Given the description of an element on the screen output the (x, y) to click on. 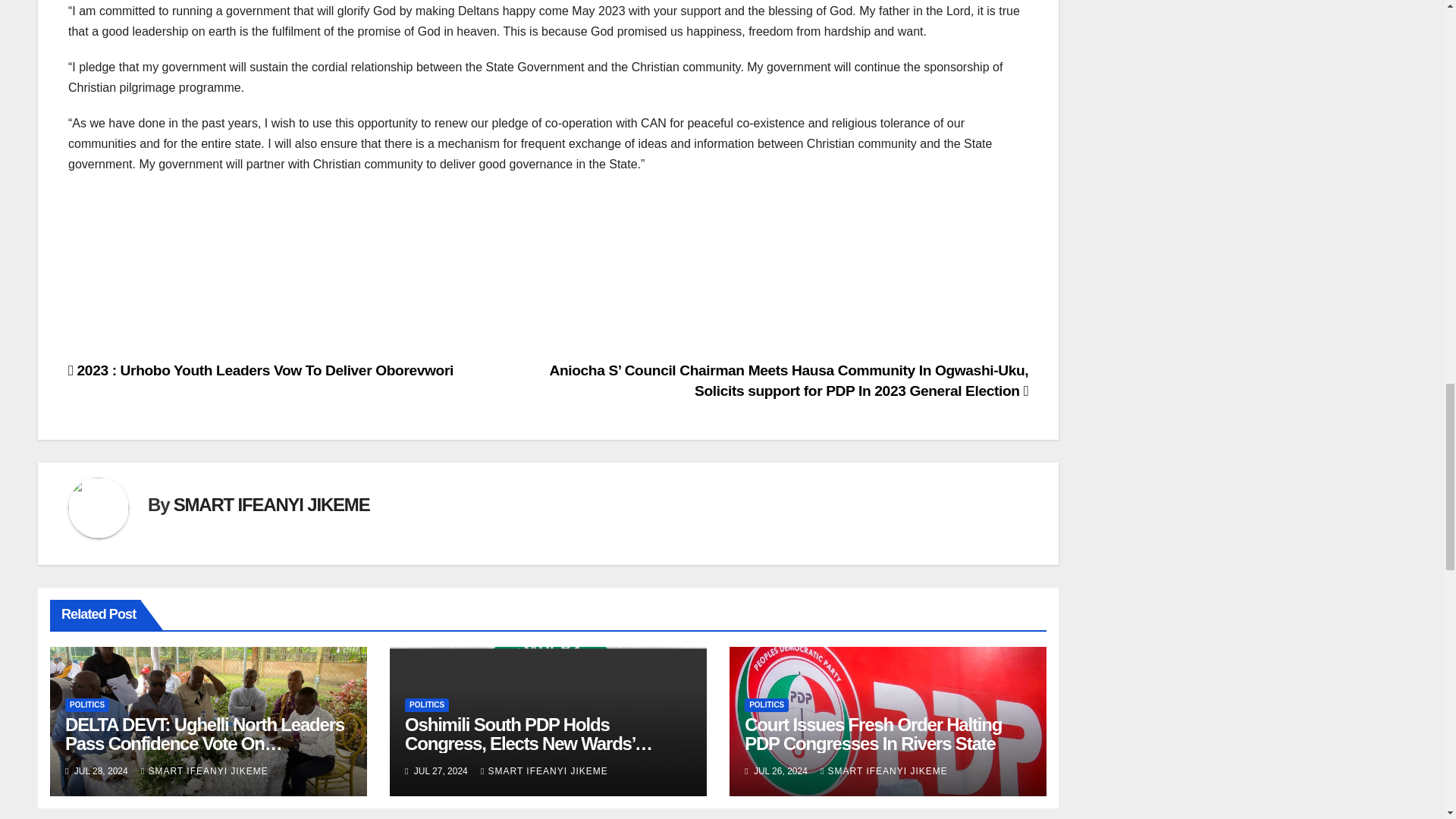
POLITICS (426, 704)
2023 : Urhobo Youth Leaders Vow To Deliver Oborevwori (260, 370)
SMART IFEANYI JIKEME (204, 770)
SMART IFEANYI JIKEME (884, 770)
POLITICS (766, 704)
POLITICS (87, 704)
SMART IFEANYI JIKEME (544, 770)
SMART IFEANYI JIKEME (271, 504)
